Given the description of an element on the screen output the (x, y) to click on. 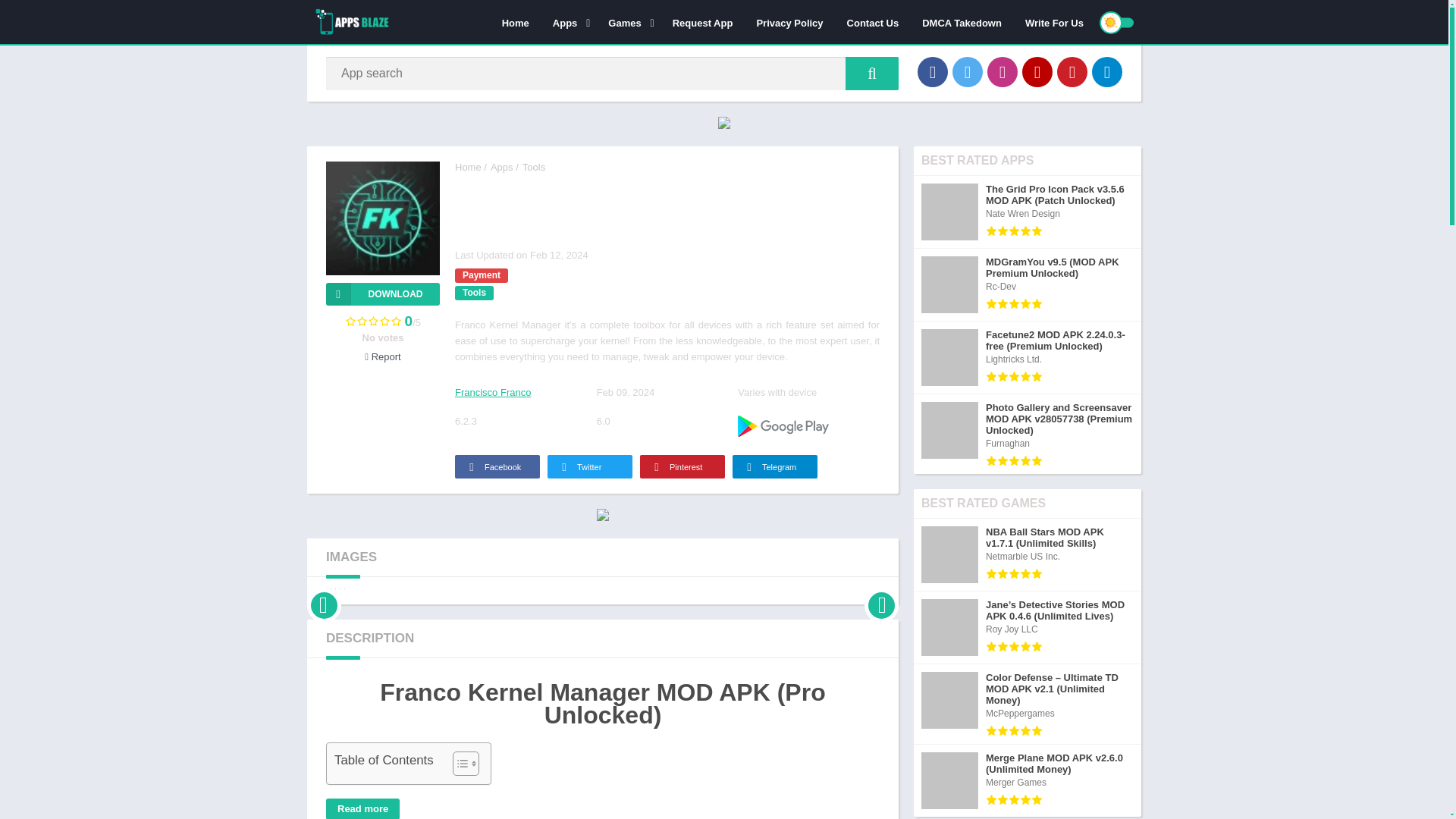
Telegram (1107, 71)
YouTube (1037, 71)
App search (871, 73)
Facebook (932, 71)
Download (382, 293)
Apps Blaze (467, 166)
Pinterest (1072, 71)
Twitter (967, 71)
Instagram (1002, 71)
